Given the description of an element on the screen output the (x, y) to click on. 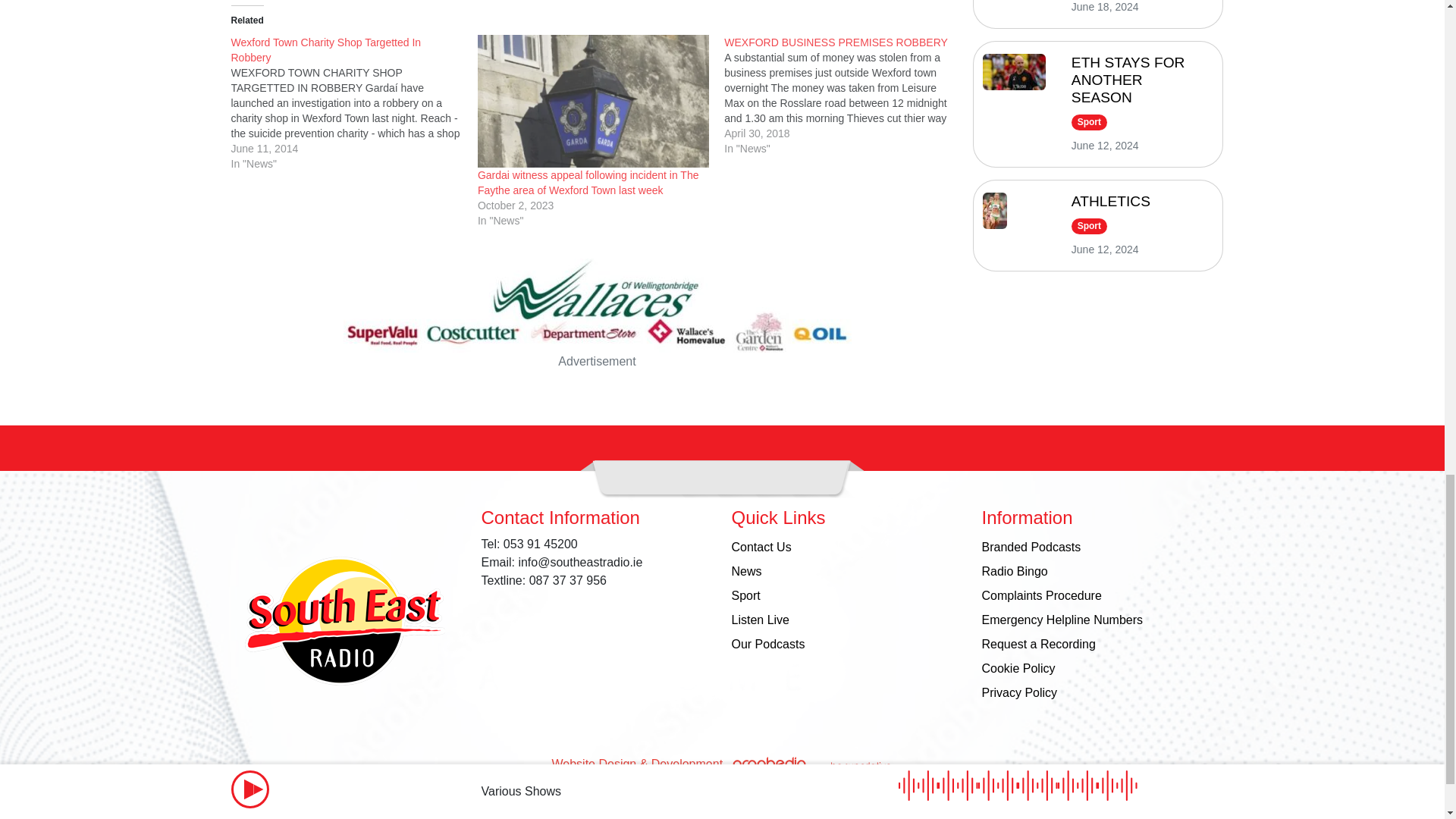
WEXFORD BUSINESS PREMISES ROBBERY (847, 95)
WEXFORD BUSINESS PREMISES ROBBERY (835, 42)
Wexford Town Charity Shop Targetted In Robbery (325, 49)
Wexford Town Charity Shop Targetted In Robbery (353, 103)
